Given the description of an element on the screen output the (x, y) to click on. 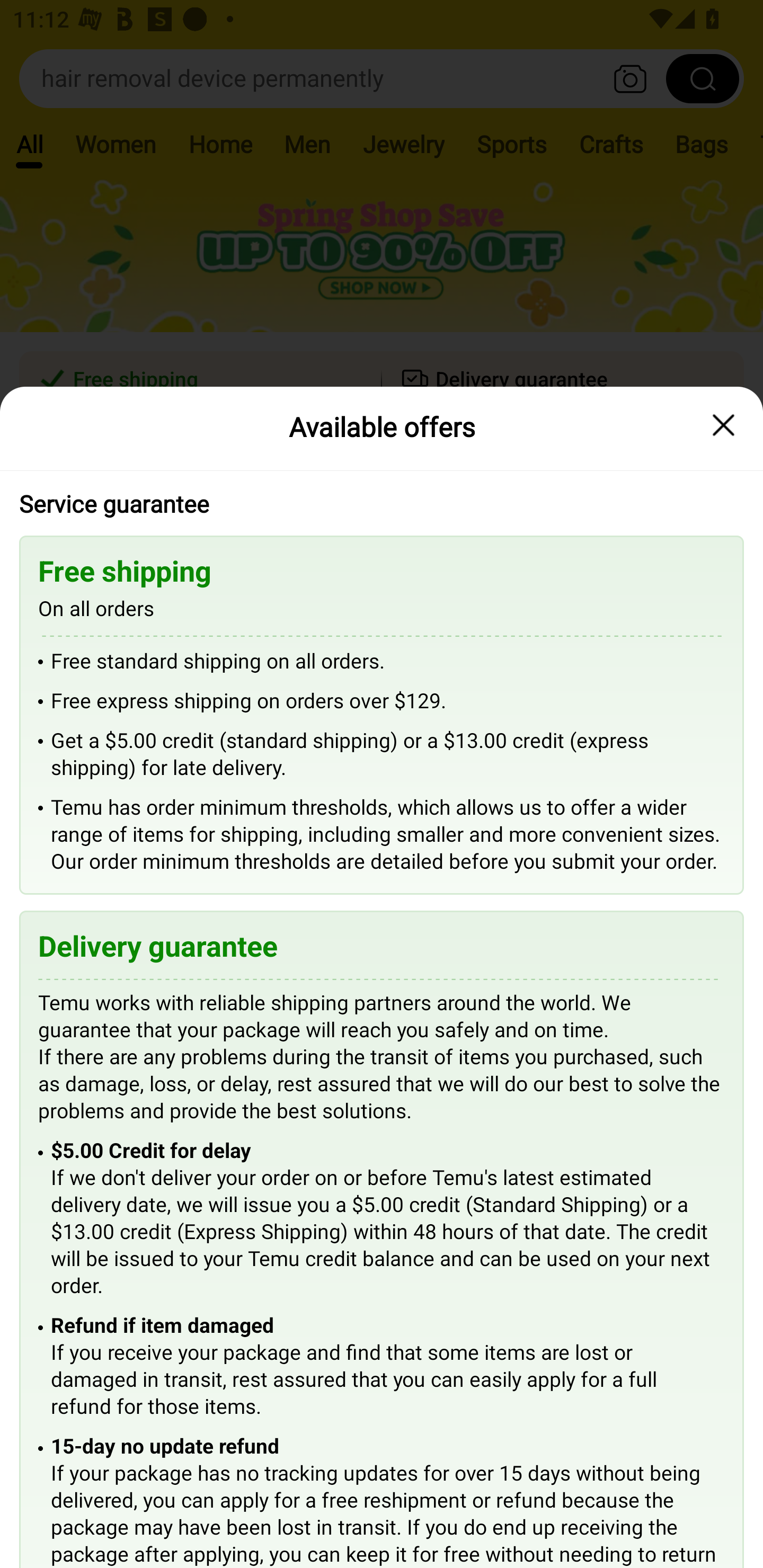
Lightning deals (379, 524)
